Given the description of an element on the screen output the (x, y) to click on. 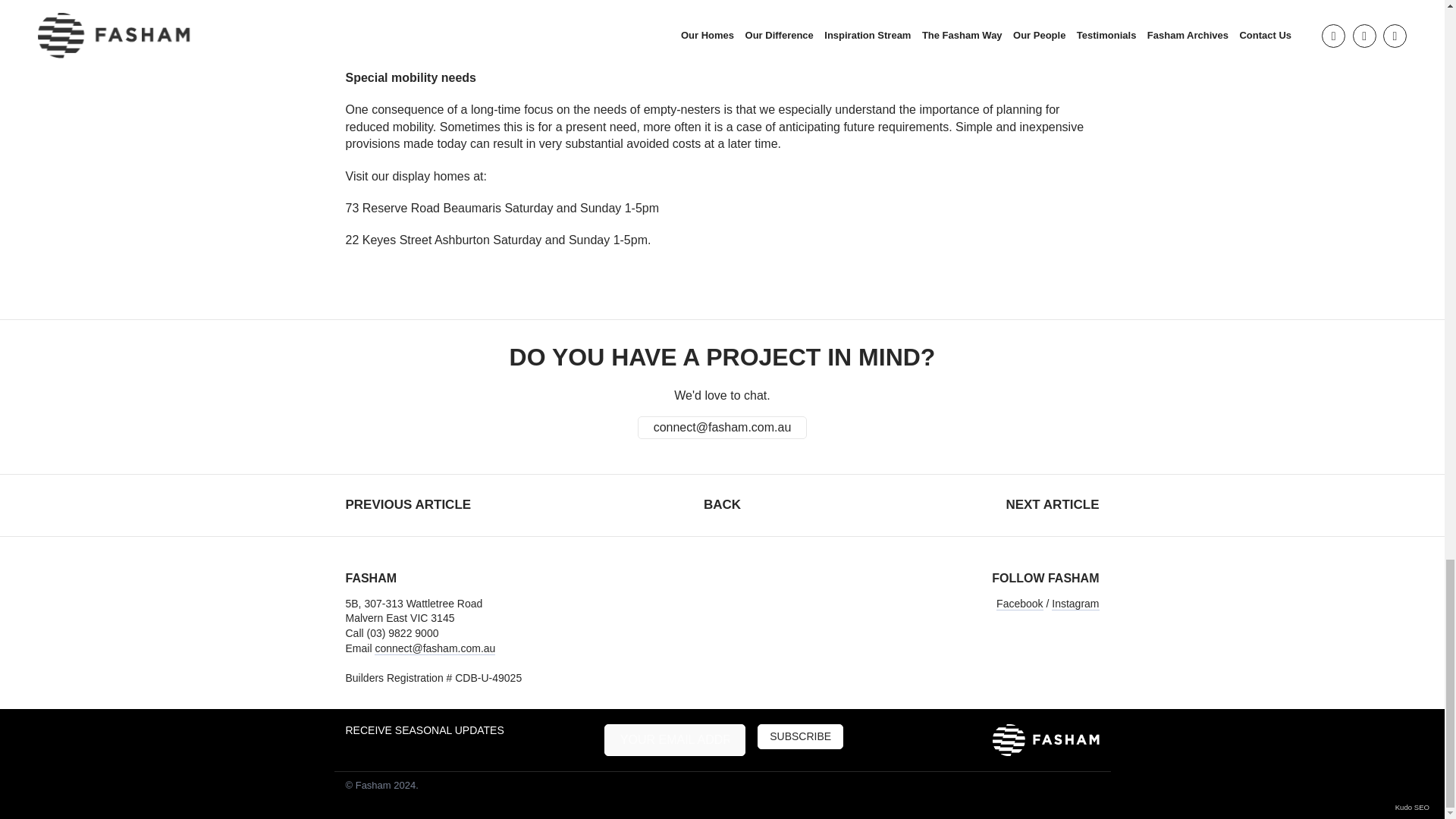
BACK (722, 504)
Homes Inspired By Nature (1052, 504)
Facebook (1018, 603)
NEXT ARTICLE (1052, 504)
PREVIOUS ARTICLE (408, 504)
Subscribe (800, 736)
Instagram (1075, 603)
Knock down and re-build (722, 373)
Subscribe (408, 504)
